Given the description of an element on the screen output the (x, y) to click on. 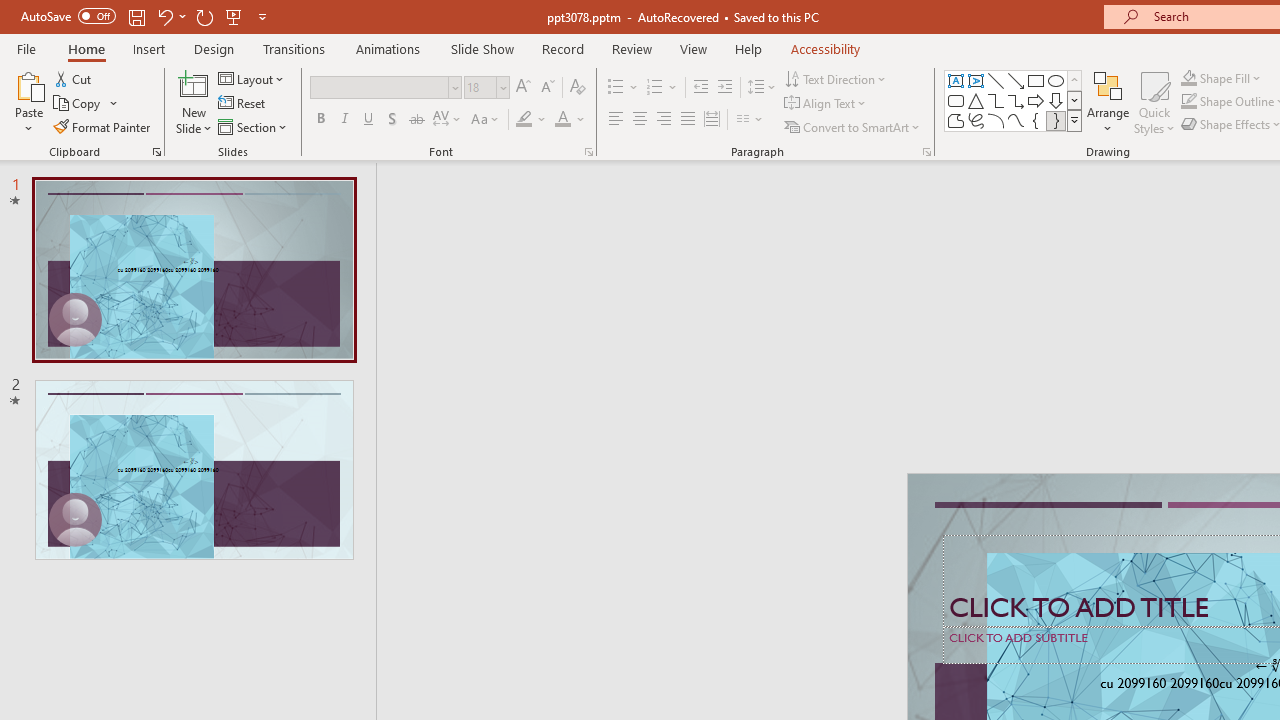
Layout (252, 78)
Font Color (569, 119)
Row up (1074, 79)
Arrange (1108, 102)
Quick Styles (1154, 102)
Class: NetUIImage (1075, 120)
Arrow: Down (1055, 100)
Open (502, 87)
Paragraph... (926, 151)
Text Highlight Color Yellow (524, 119)
